Given the description of an element on the screen output the (x, y) to click on. 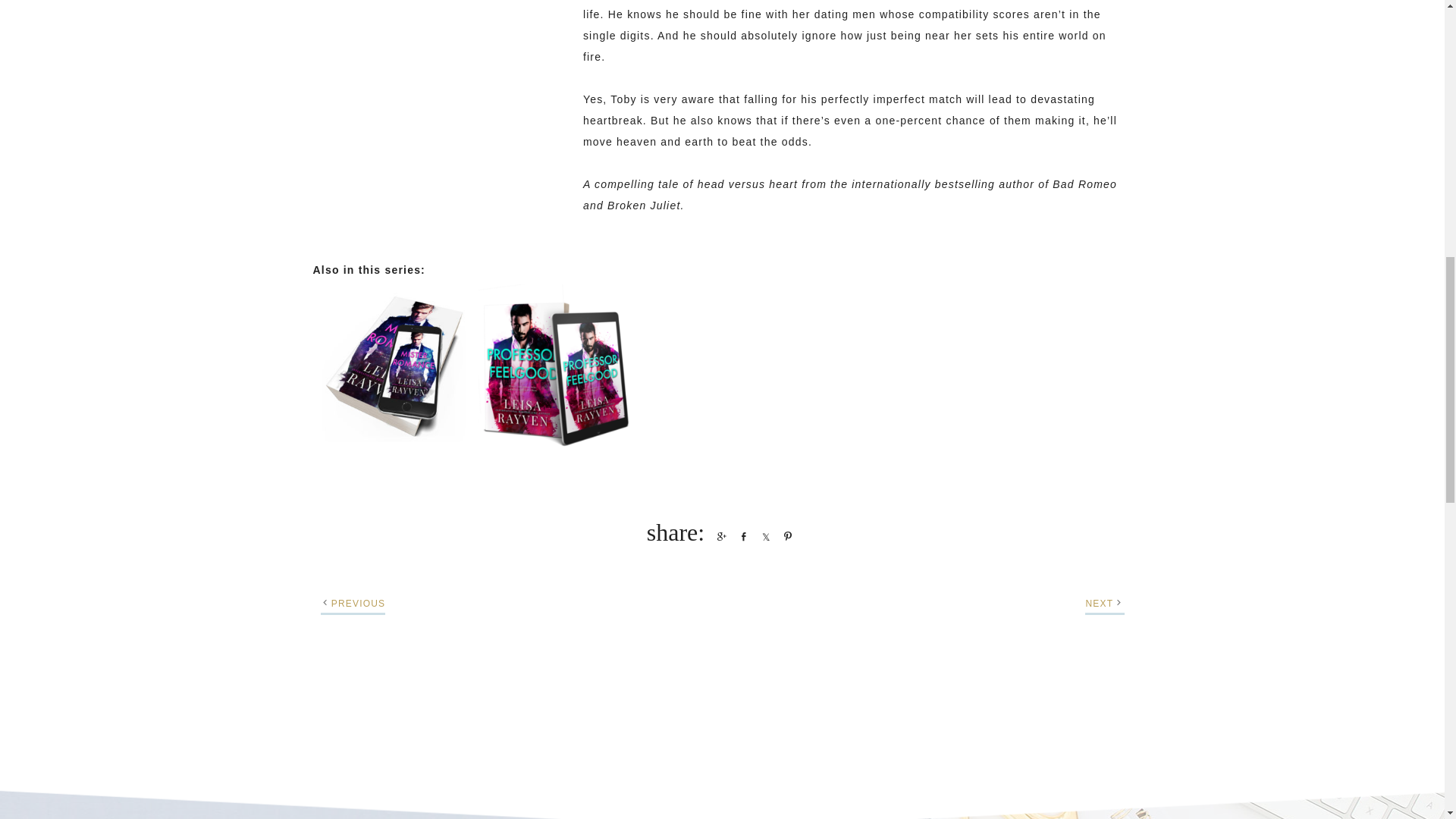
PREVIOUS (358, 603)
Pin (784, 535)
Share (762, 535)
Share (740, 535)
Share (719, 535)
